Given the description of an element on the screen output the (x, y) to click on. 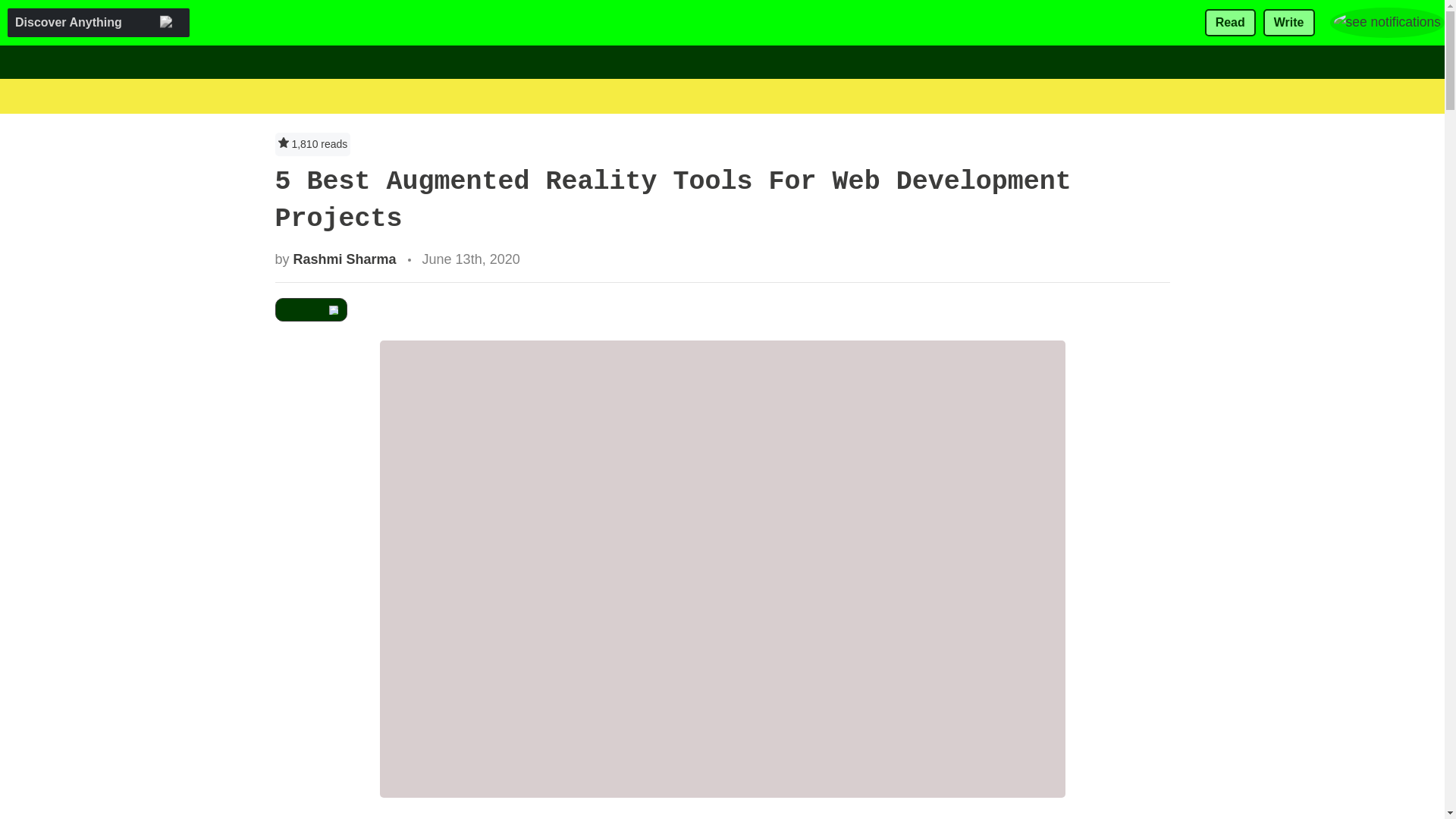
Rashmi Sharma (345, 258)
Read (1230, 22)
Write (1288, 22)
